Given the description of an element on the screen output the (x, y) to click on. 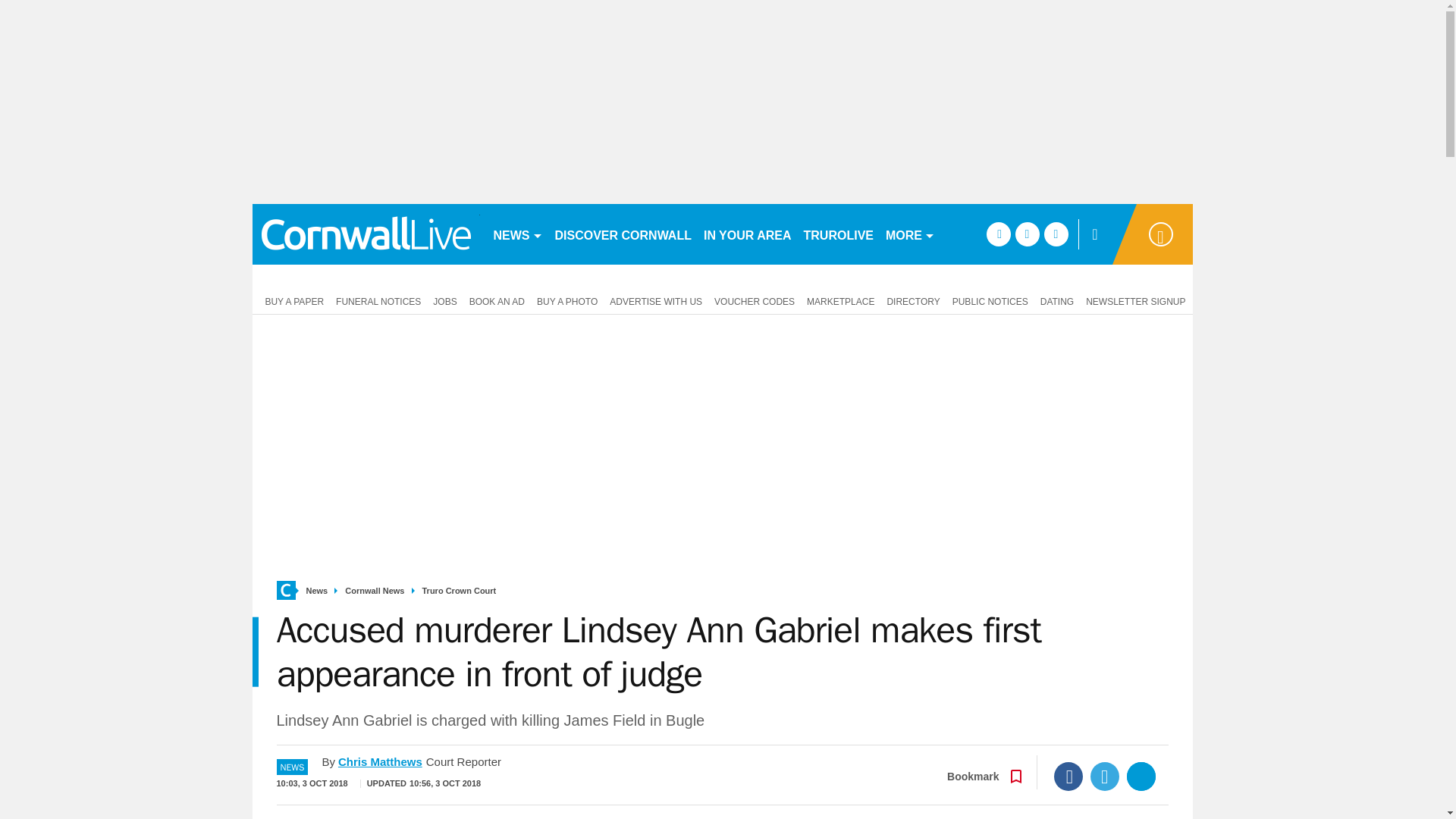
facebook (997, 233)
NEWS (517, 233)
twitter (1026, 233)
DISCOVER CORNWALL (622, 233)
instagram (1055, 233)
Facebook (1068, 776)
Twitter (1104, 776)
TRUROLIVE (838, 233)
cornwalllive (365, 233)
MORE (909, 233)
